Given the description of an element on the screen output the (x, y) to click on. 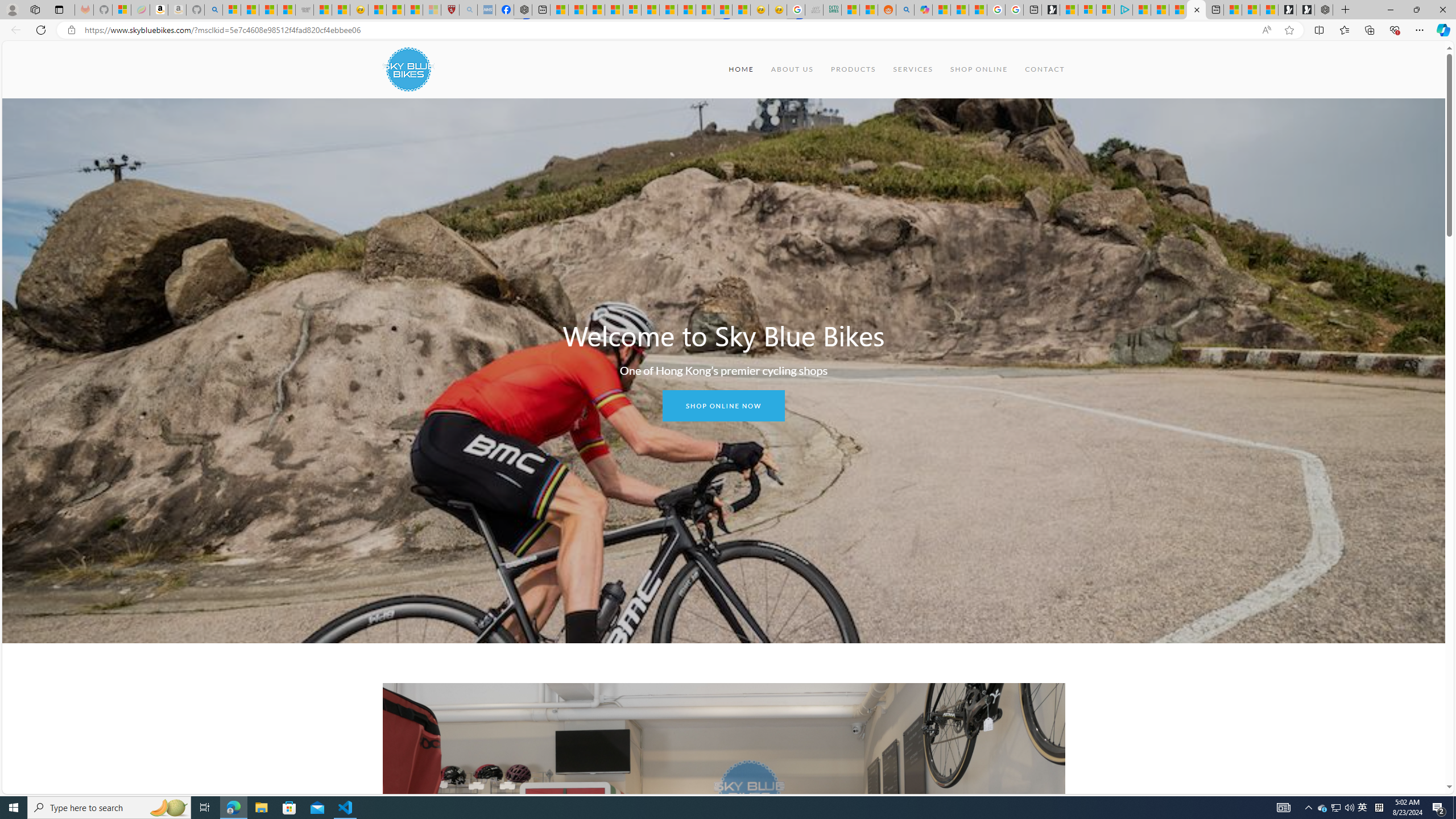
MSNBC - MSN (850, 9)
SHOP ONLINE (978, 68)
CONTACT (1045, 68)
Class: uk-navbar-item uk-logo (408, 68)
MSN (722, 9)
Microsoft Start Gaming (1050, 9)
